Given the description of an element on the screen output the (x, y) to click on. 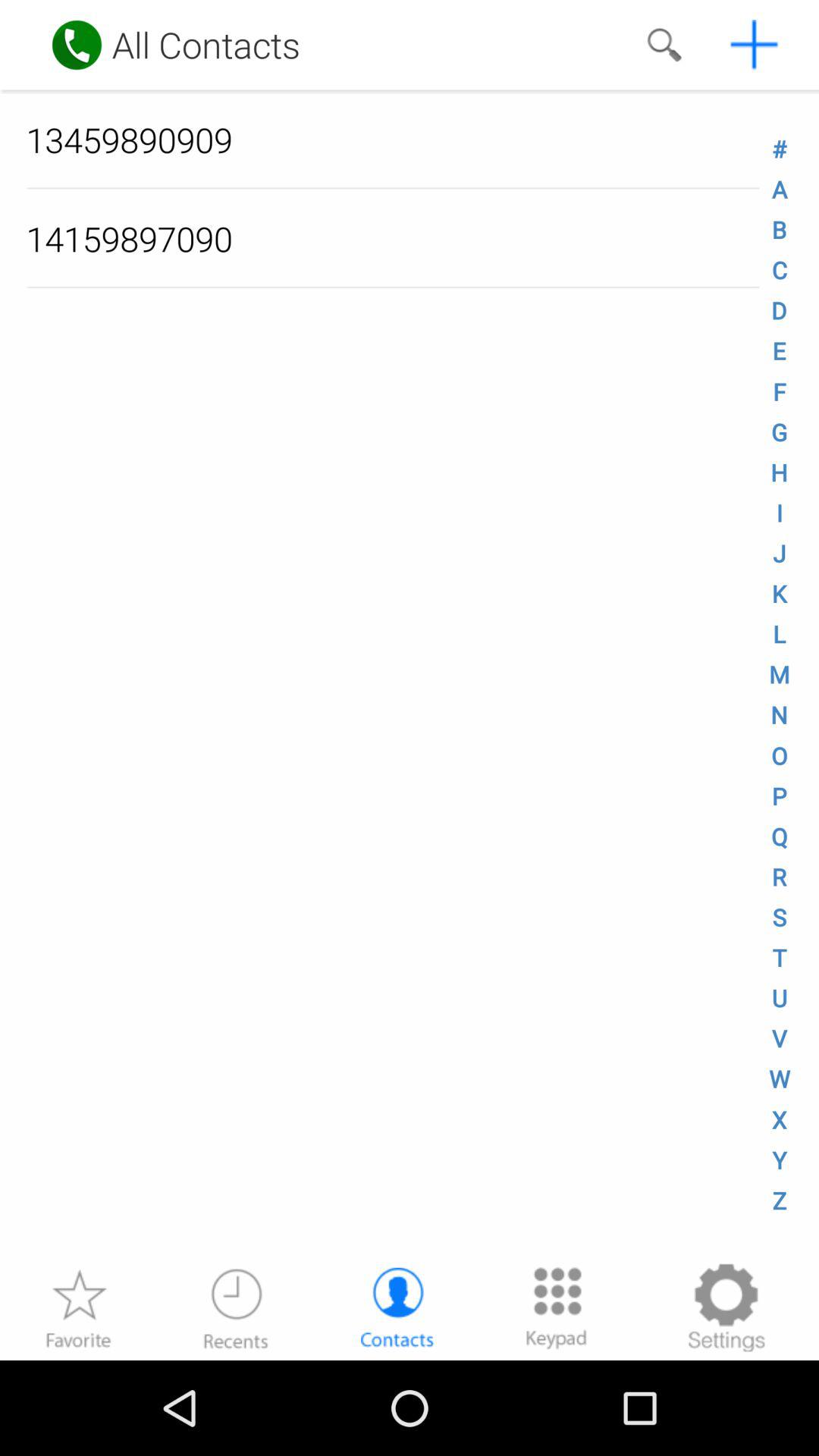
recent calls (235, 1307)
